Given the description of an element on the screen output the (x, y) to click on. 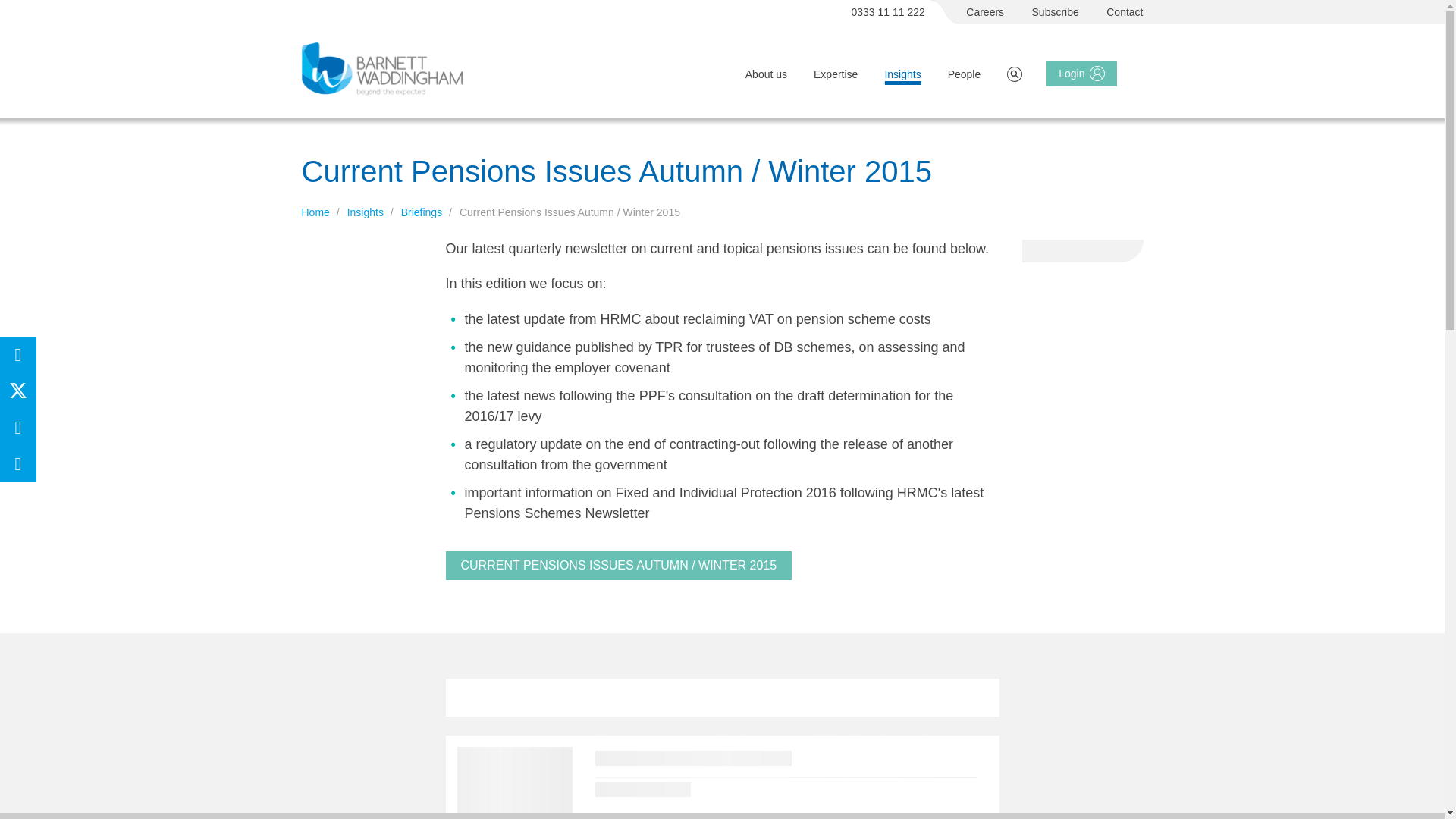
Expertise (835, 73)
About us (766, 73)
Contact (1124, 12)
0333 11 11 222 (889, 12)
Subscribe (1055, 12)
Careers (985, 12)
